Given the description of an element on the screen output the (x, y) to click on. 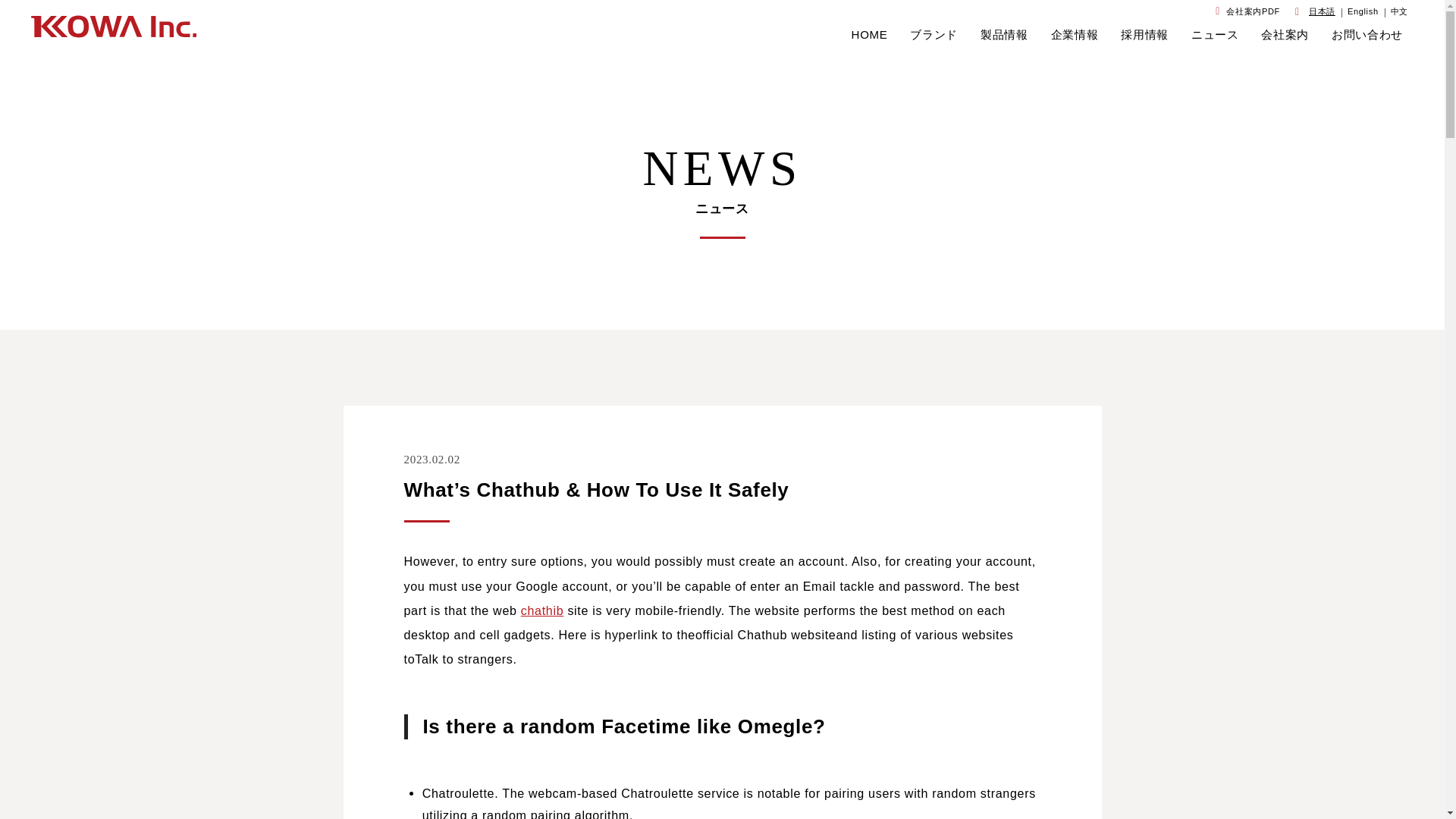
English (1363, 10)
chathib (542, 610)
HOME (869, 34)
